Given the description of an element on the screen output the (x, y) to click on. 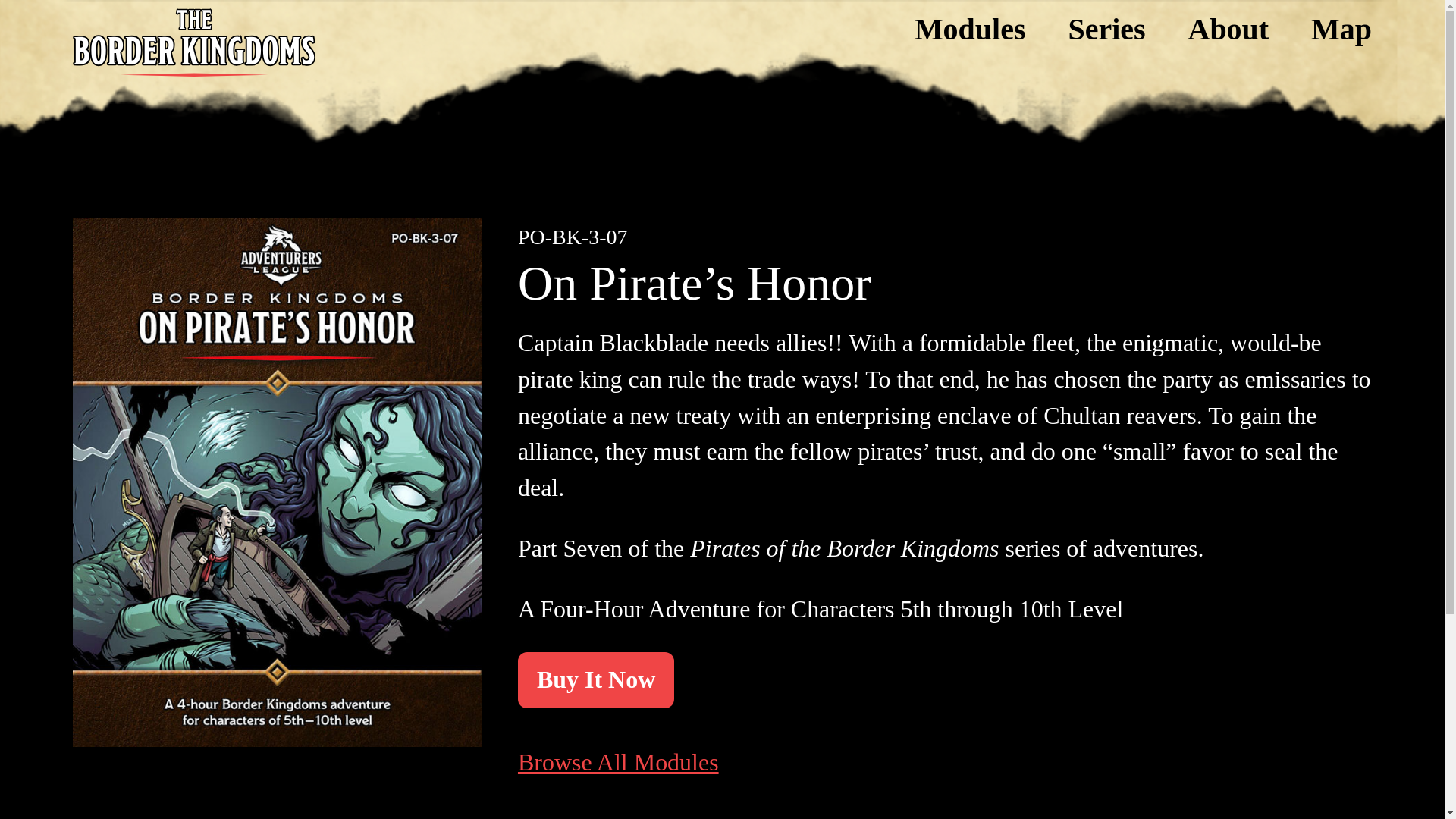
Modules (970, 28)
Browse All Modules (618, 762)
About (1228, 28)
Map (1341, 28)
Buy It Now (596, 679)
Series (1105, 28)
